Given the description of an element on the screen output the (x, y) to click on. 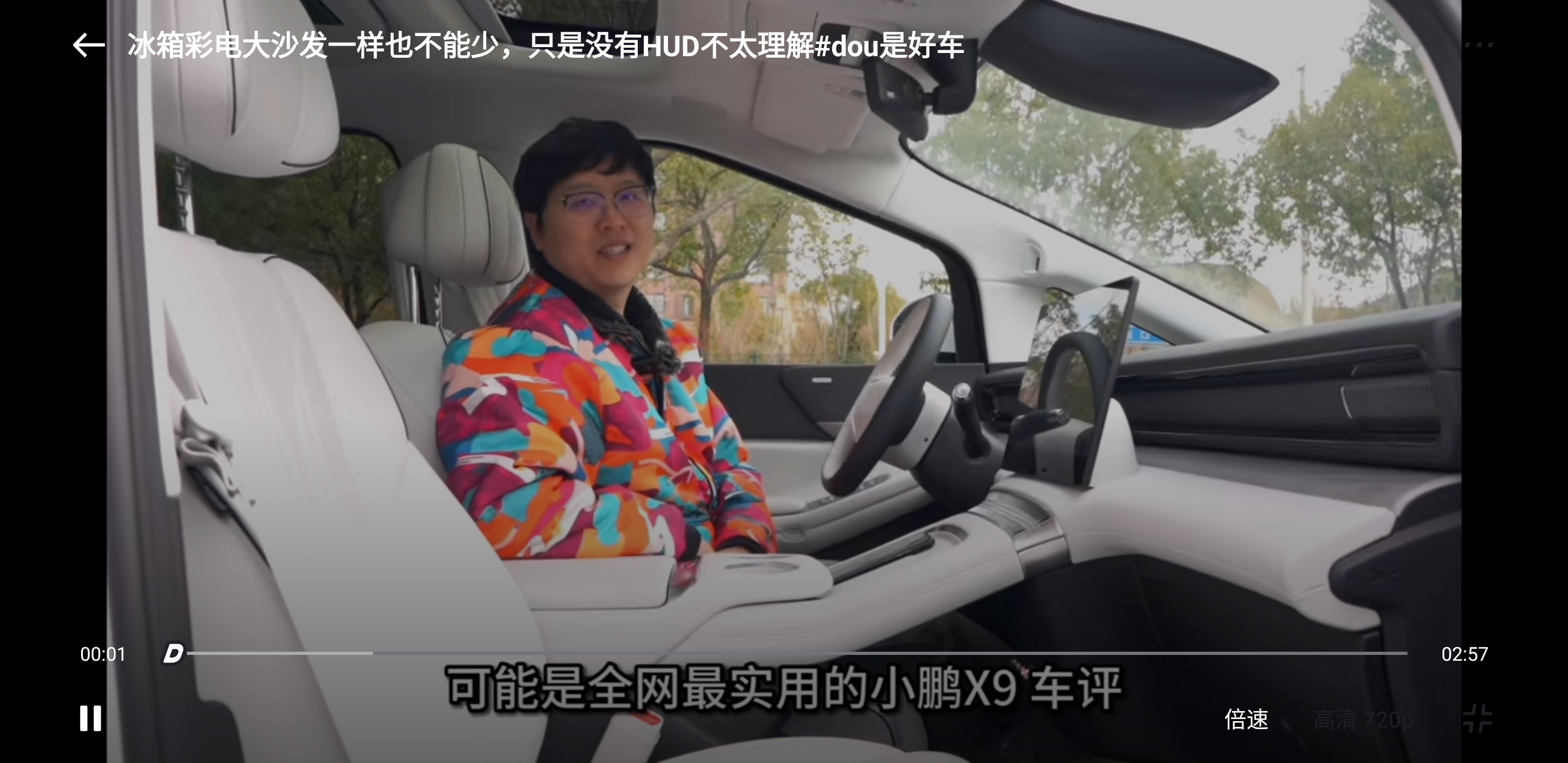
 (89, 44)
 (1478, 44)
 (90, 718)
 (1476, 718)
倍速 (1246, 718)
高清 720p (1363, 718)
